Given the description of an element on the screen output the (x, y) to click on. 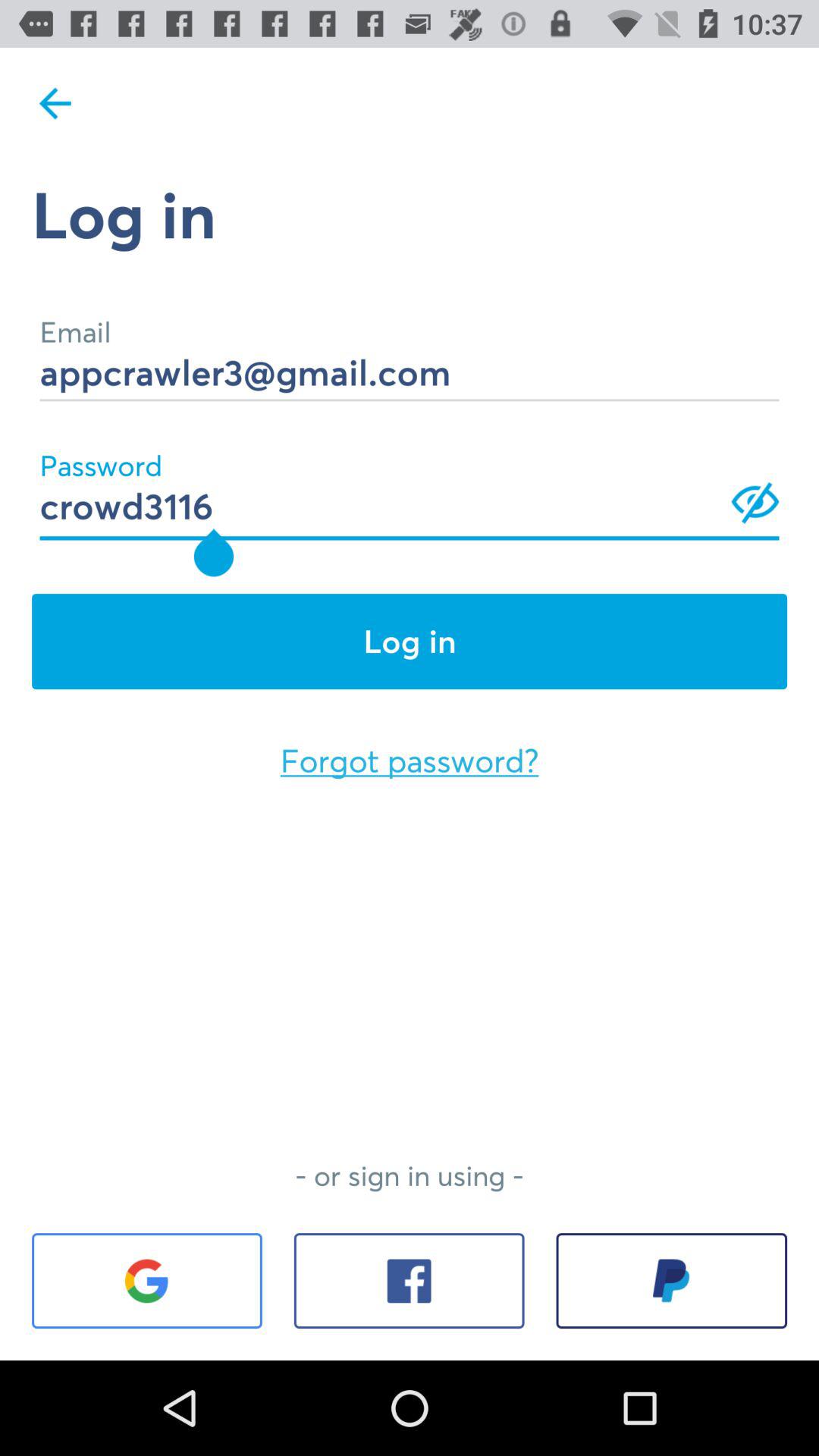
turn off the icon at the bottom right corner (671, 1280)
